Given the description of an element on the screen output the (x, y) to click on. 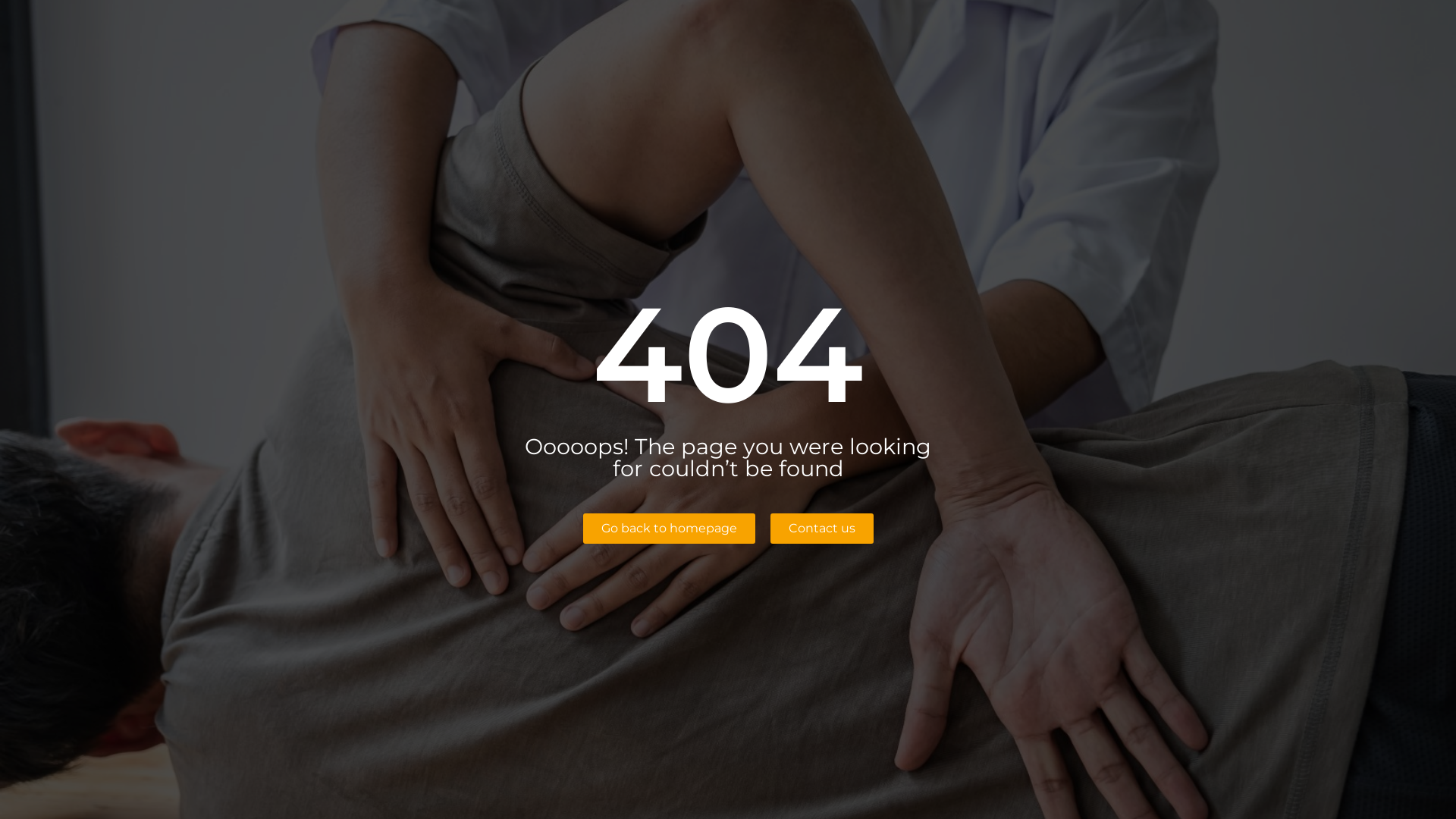
Contact us Element type: text (821, 528)
Go back to homepage Element type: text (668, 528)
